Given the description of an element on the screen output the (x, y) to click on. 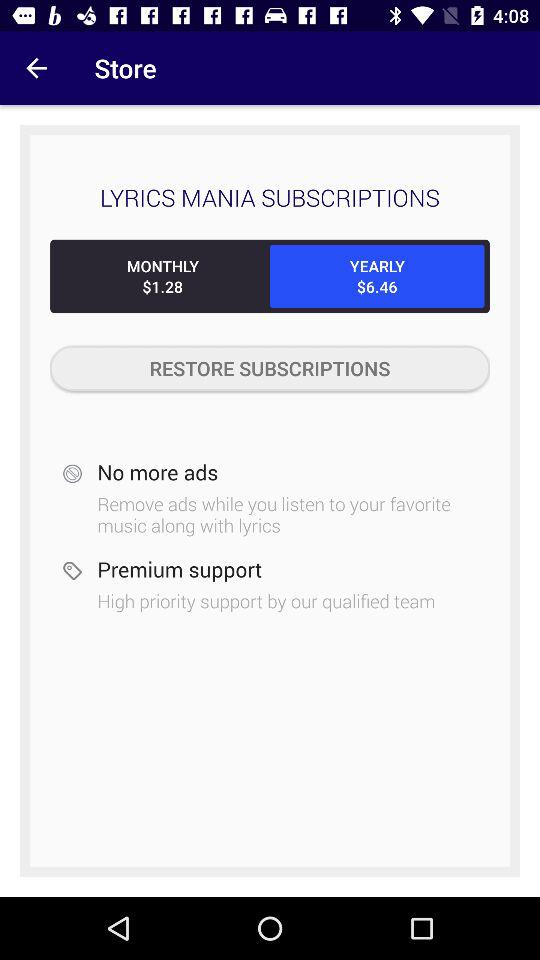
turn off yearly
$6.46 item (377, 275)
